Given the description of an element on the screen output the (x, y) to click on. 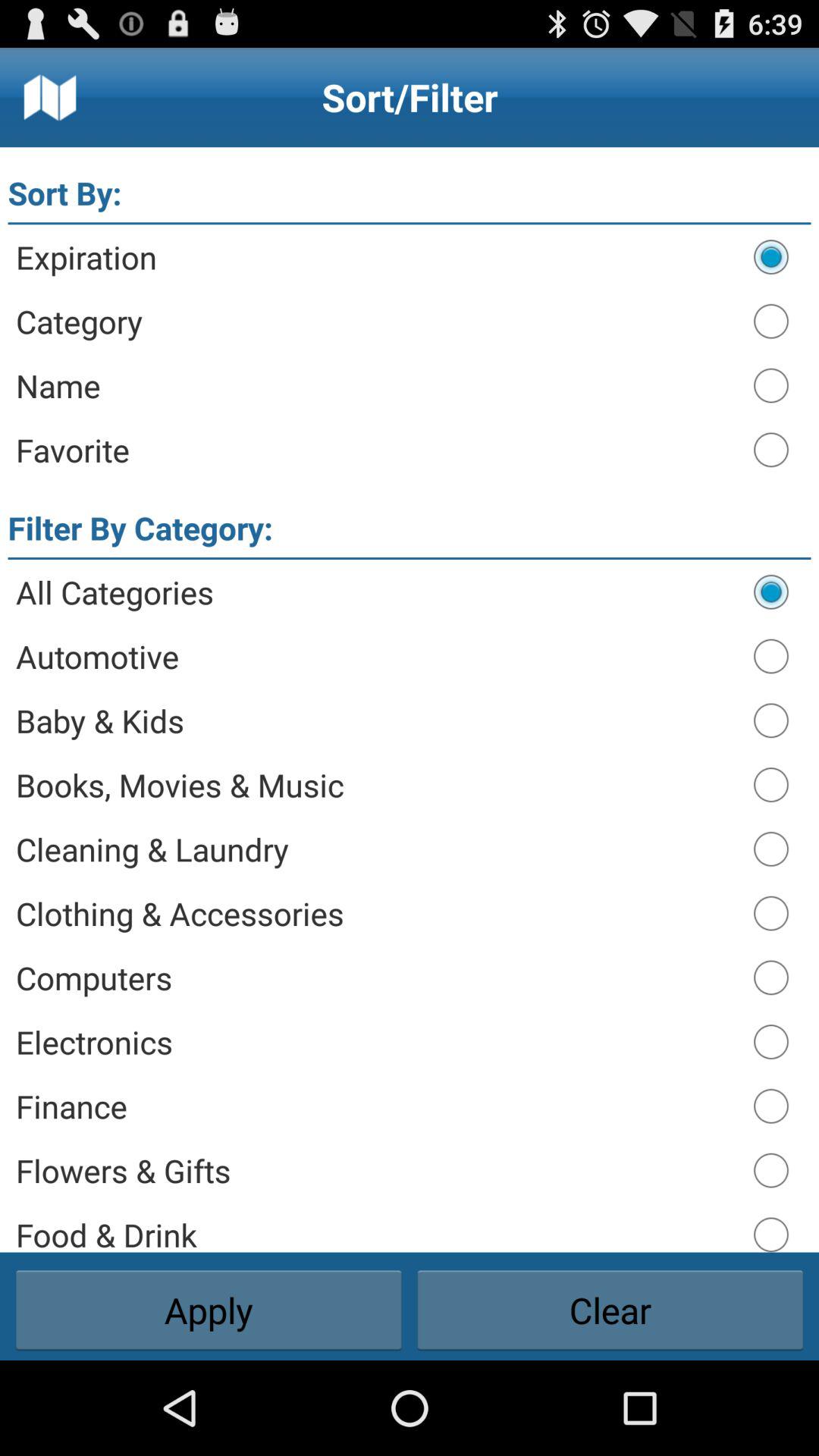
click the icon below finance item (377, 1170)
